Given the description of an element on the screen output the (x, y) to click on. 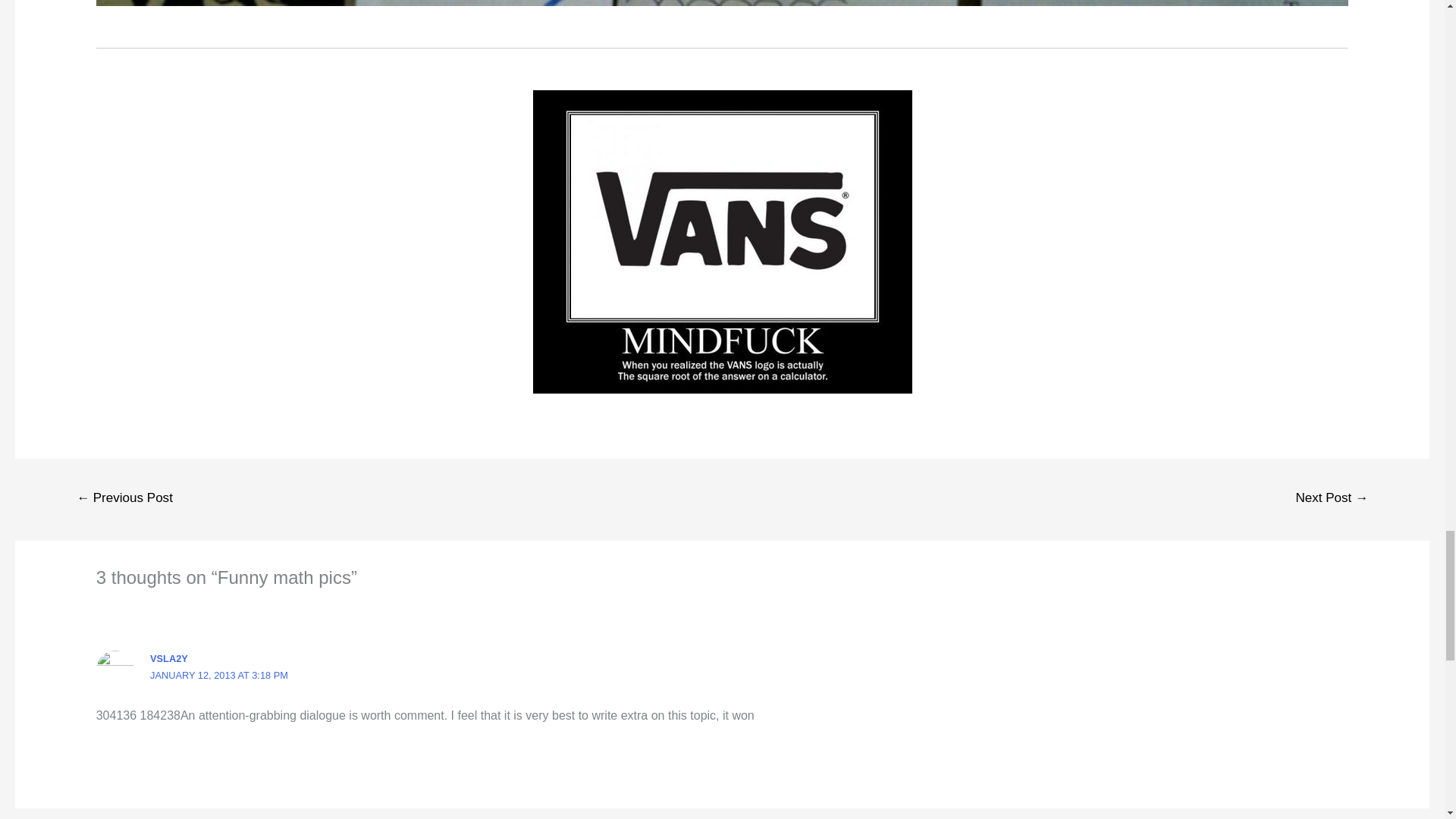
JANUARY 12, 2013 AT 3:18 PM (218, 674)
VSLA2Y (168, 658)
